Given the description of an element on the screen output the (x, y) to click on. 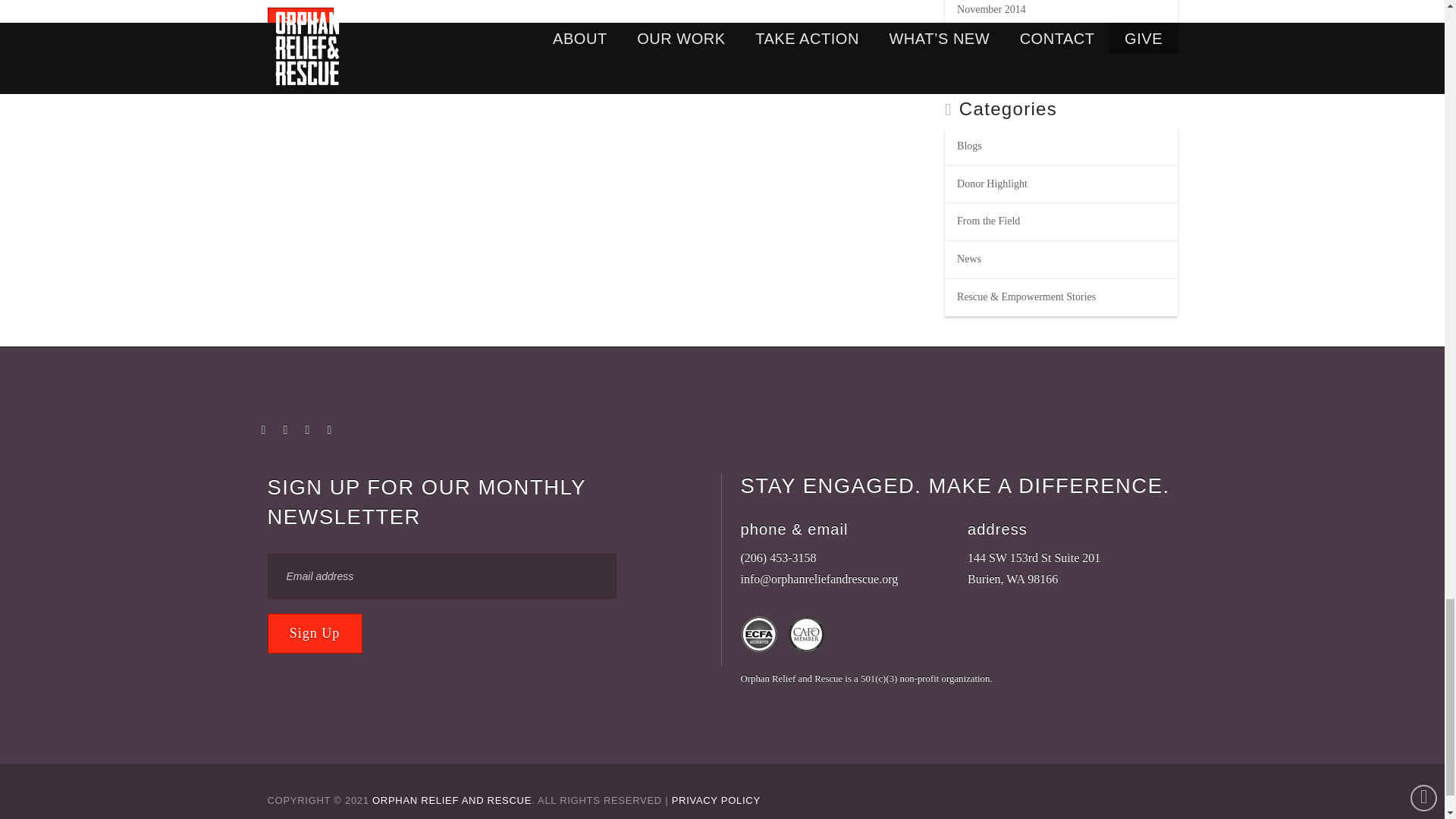
Sign Up (313, 632)
Submit (299, 24)
